Given the description of an element on the screen output the (x, y) to click on. 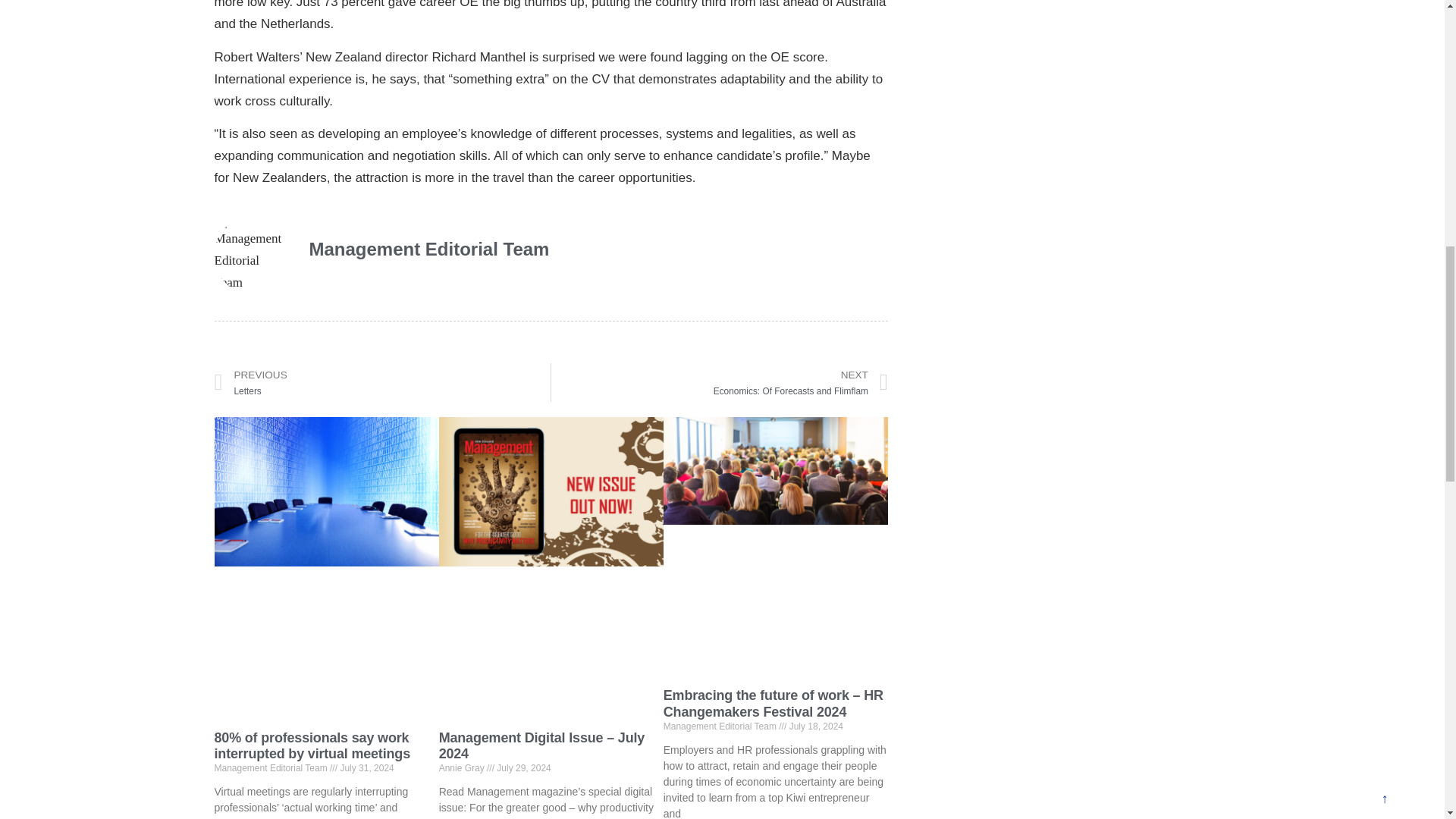
Scroll to top (1384, 1)
